Given the description of an element on the screen output the (x, y) to click on. 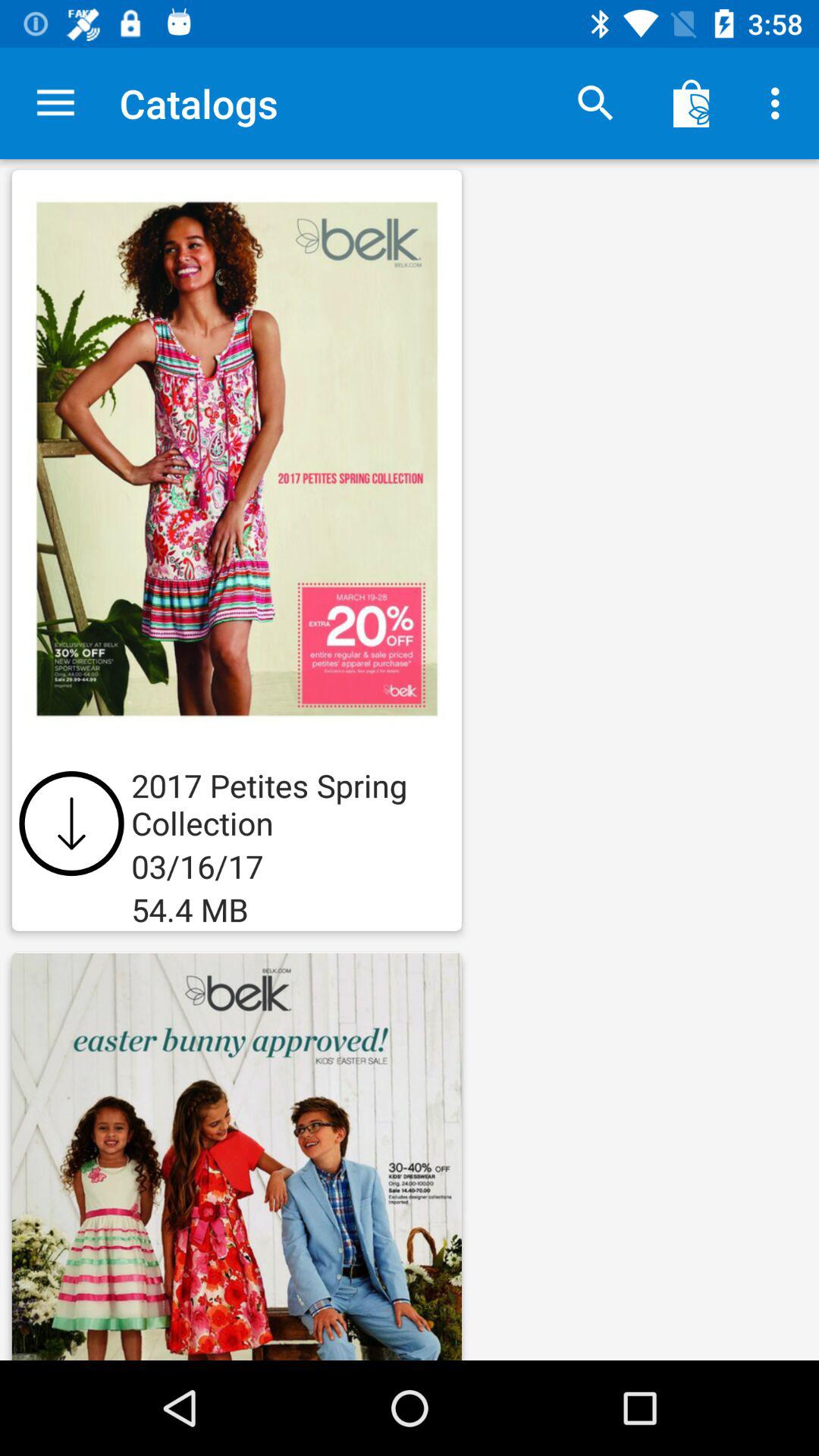
click icon next to the catalogs (55, 103)
